Given the description of an element on the screen output the (x, y) to click on. 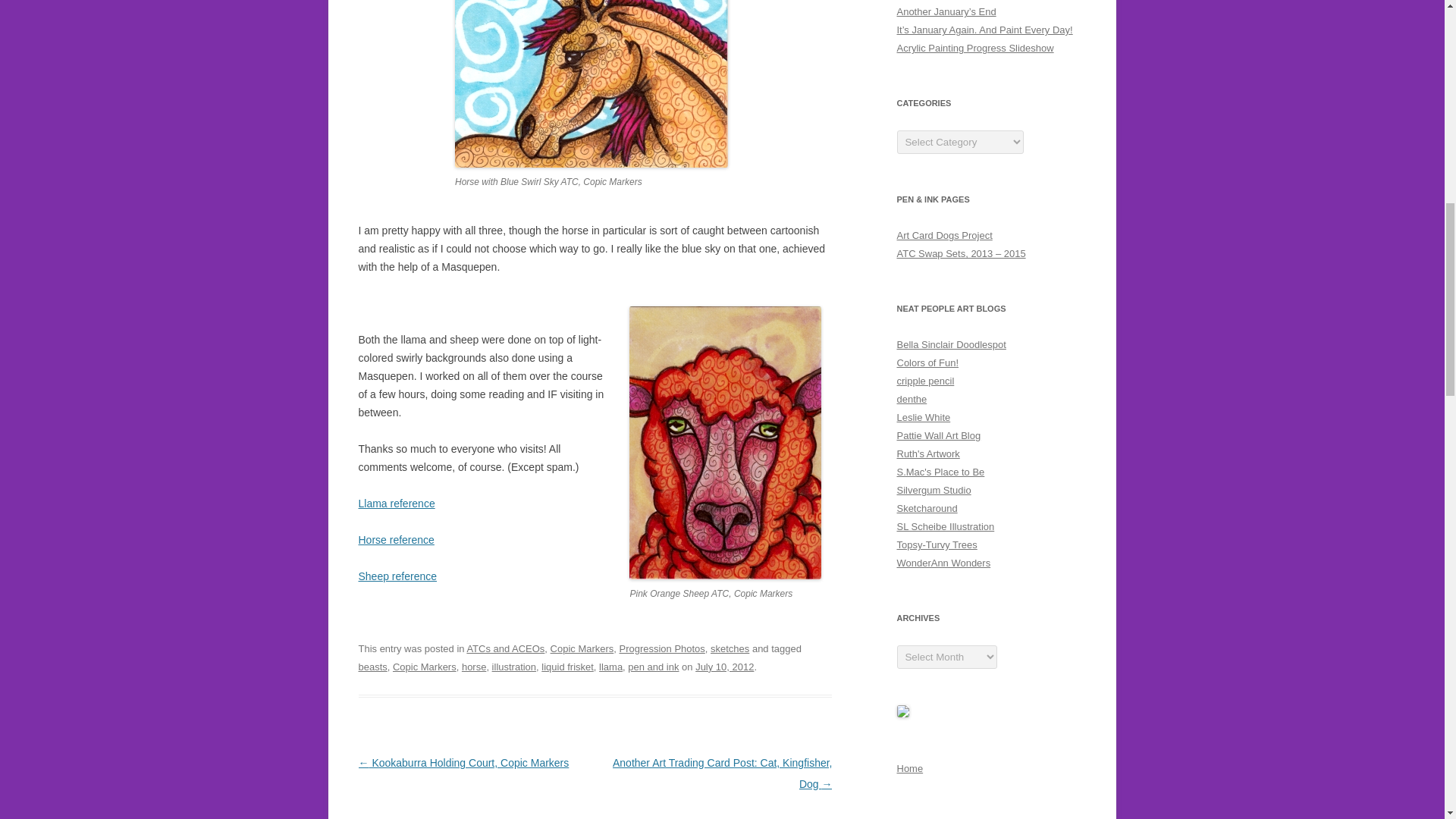
Horse with Blue Swirl Sky July 2012 (591, 83)
Ruth Hayes (927, 453)
Web Home for artist Sheri McClure-Pitler (940, 471)
vibrant art for colourful people (911, 398)
July 10, 2012 (724, 666)
Copic Markers (425, 666)
llama (610, 666)
beasts (372, 666)
ATCs and ACEOs (504, 648)
Progression Photos (661, 648)
David Jernigan (926, 508)
Copic Markers (582, 648)
S.L. Scheibe Creative Design (945, 526)
Artwork by Leslie White (923, 417)
9:23 pm (724, 666)
